Given the description of an element on the screen output the (x, y) to click on. 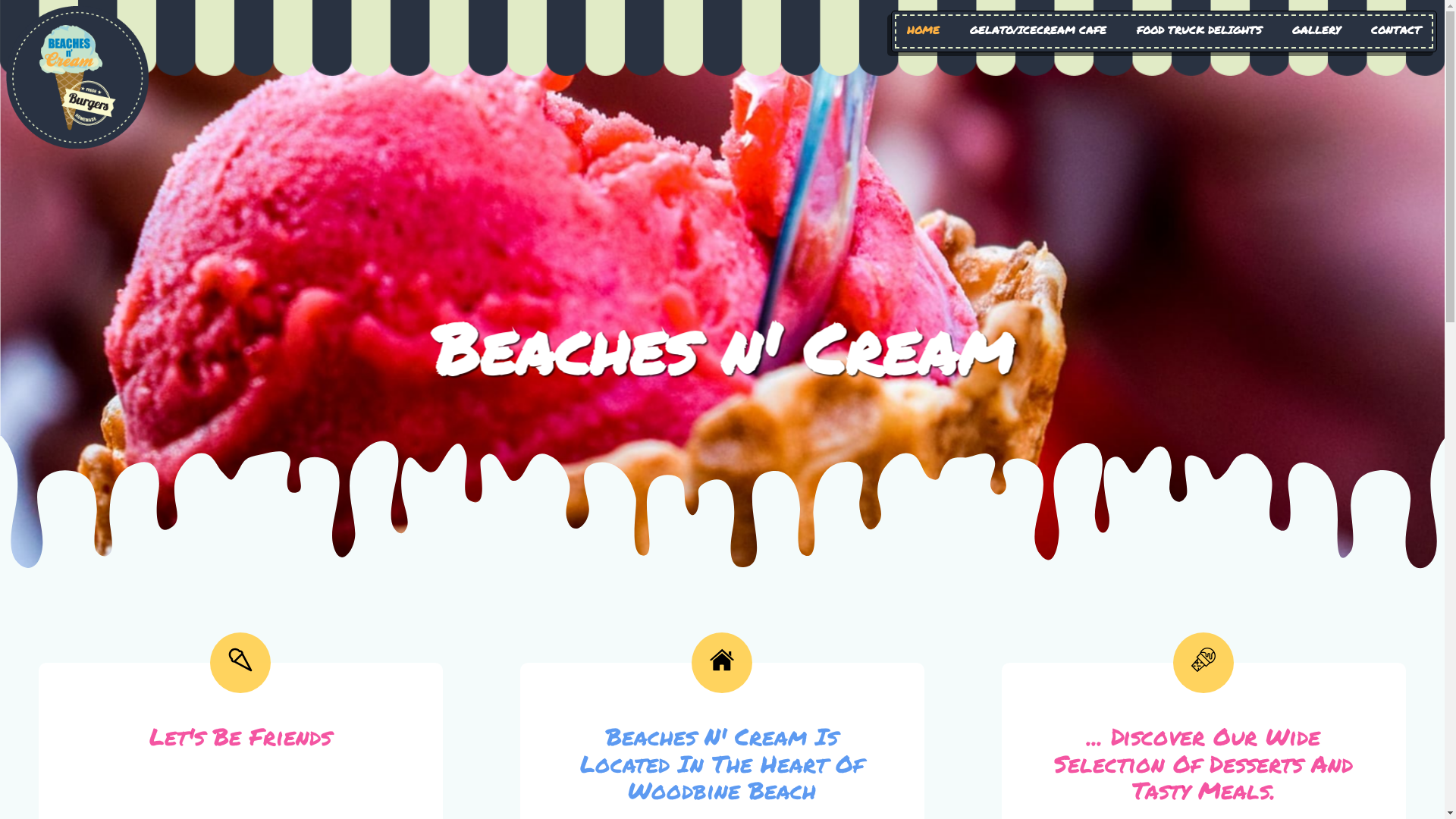
HOME Element type: text (922, 29)
CONTACT Element type: text (1395, 29)
FOOD TRUCK DELIGHTS Element type: text (1199, 29)
GALLERY Element type: text (1316, 29)
GELATO/ICECREAM CAFE Element type: text (1037, 29)
